Given the description of an element on the screen output the (x, y) to click on. 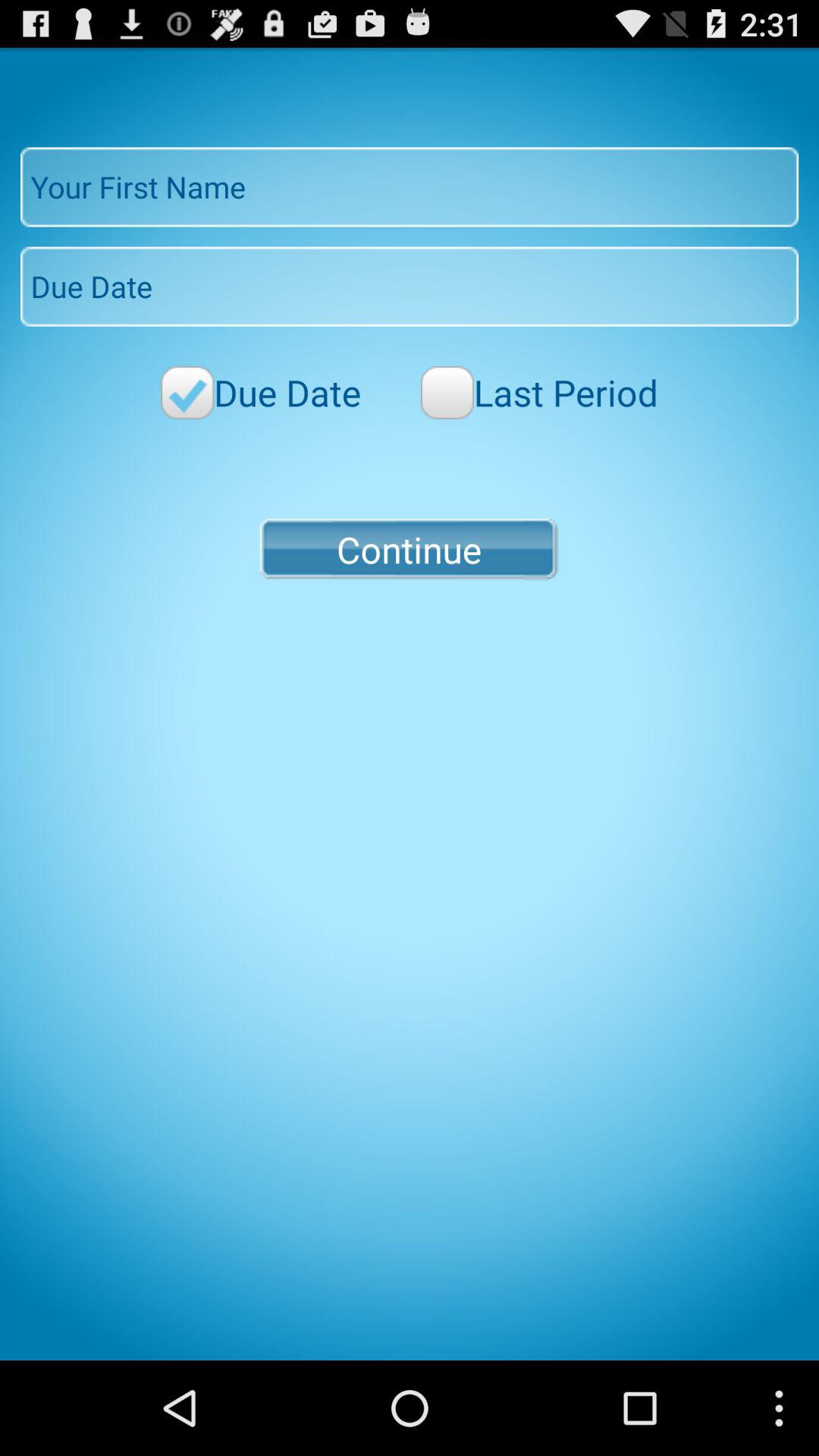
launch button above continue button (539, 392)
